Given the description of an element on the screen output the (x, y) to click on. 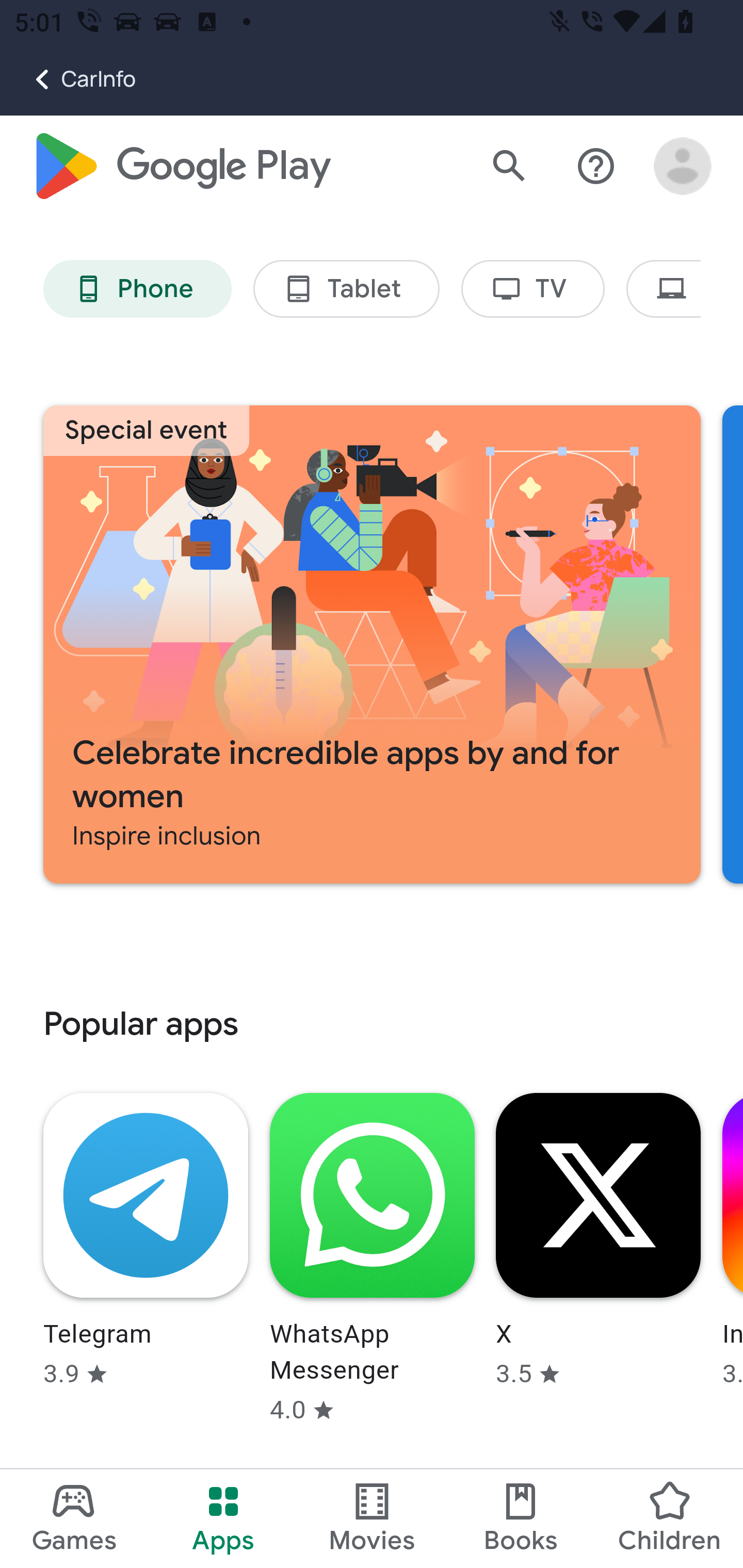
CarInfo (67, 79)
Google Play logo (180, 166)
Search (508, 166)
Help centre (596, 166)
Open account menu (682, 166)
Phone (137, 289)
Tablet (346, 289)
TV (533, 289)
Chromebook (663, 289)
Games (74, 1518)
Apps (222, 1518)
Movies (372, 1518)
Books (520, 1518)
Children (668, 1518)
